Given the description of an element on the screen output the (x, y) to click on. 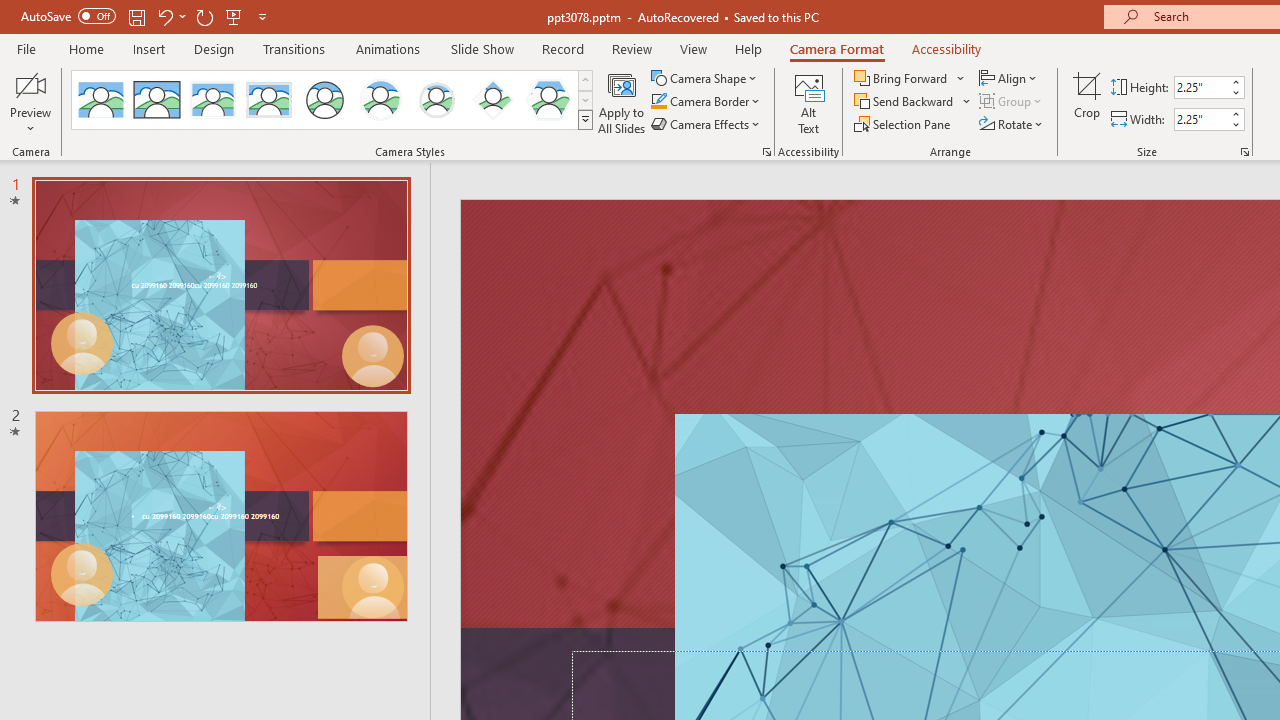
Simple Frame Circle (324, 100)
Cameo Height (1201, 87)
Center Shadow Hexagon (548, 100)
AutomationID: CameoStylesGallery (333, 99)
Send Backward (905, 101)
Enable Camera Preview (30, 84)
Center Shadow Rectangle (212, 100)
Camera Effects (706, 124)
